Given the description of an element on the screen output the (x, y) to click on. 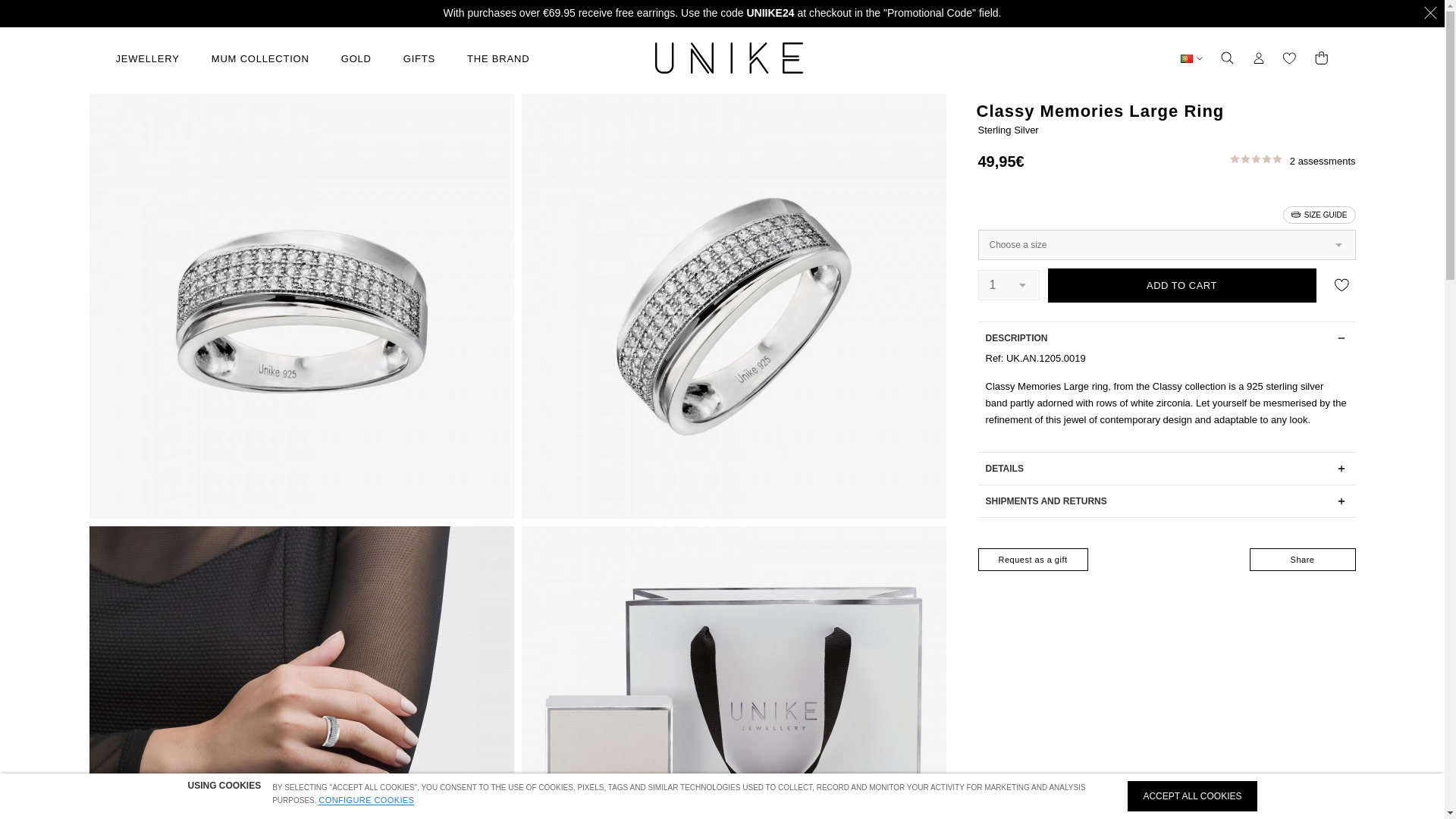
ACCEPT ALL COOKIES (1191, 796)
CONFIGURE COOKIES (365, 800)
